Given the description of an element on the screen output the (x, y) to click on. 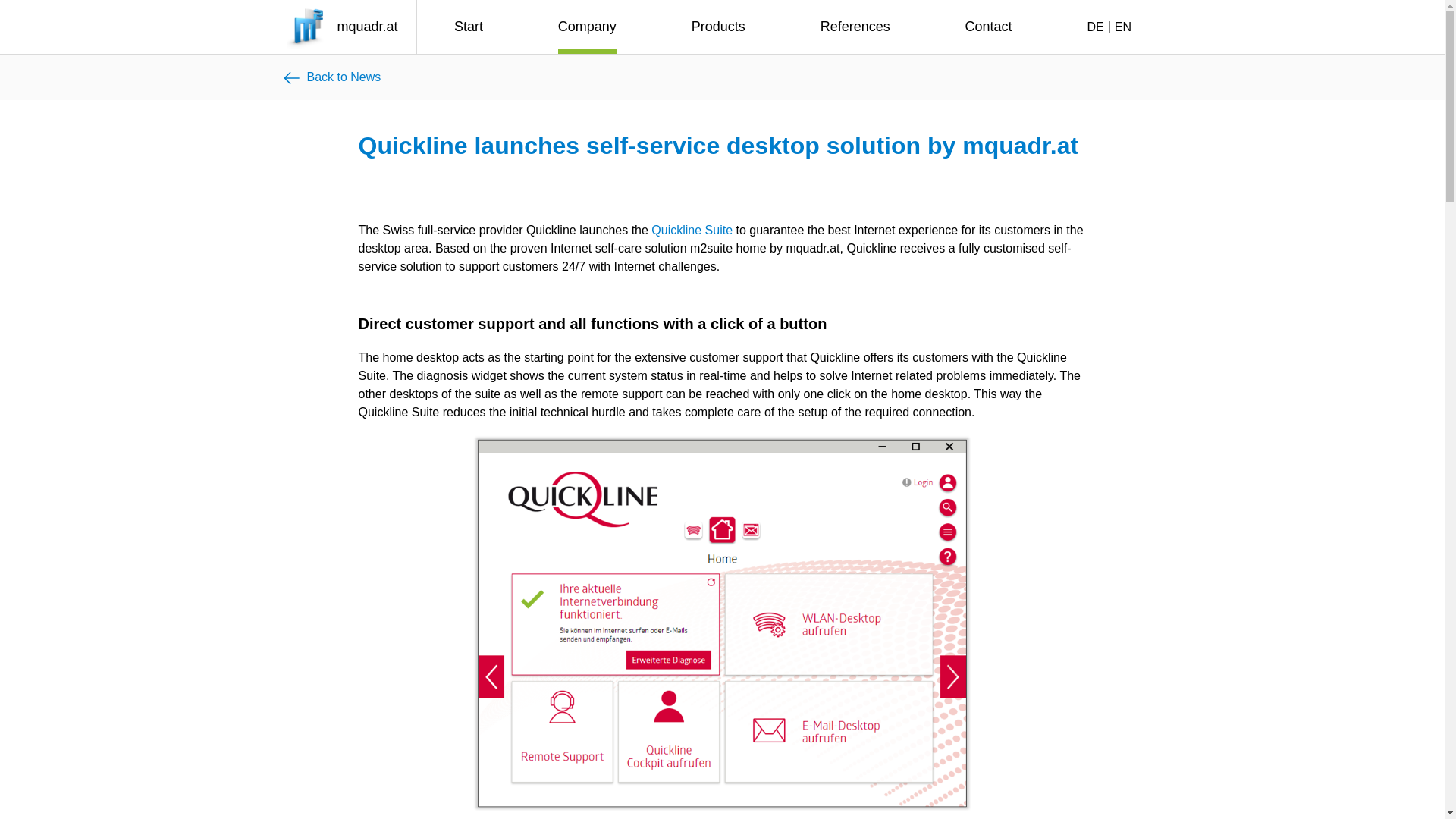
Back to News (331, 76)
Products (718, 27)
Company (586, 27)
Quickline Suite (691, 229)
References (855, 27)
mquadr.at (344, 27)
